Given the description of an element on the screen output the (x, y) to click on. 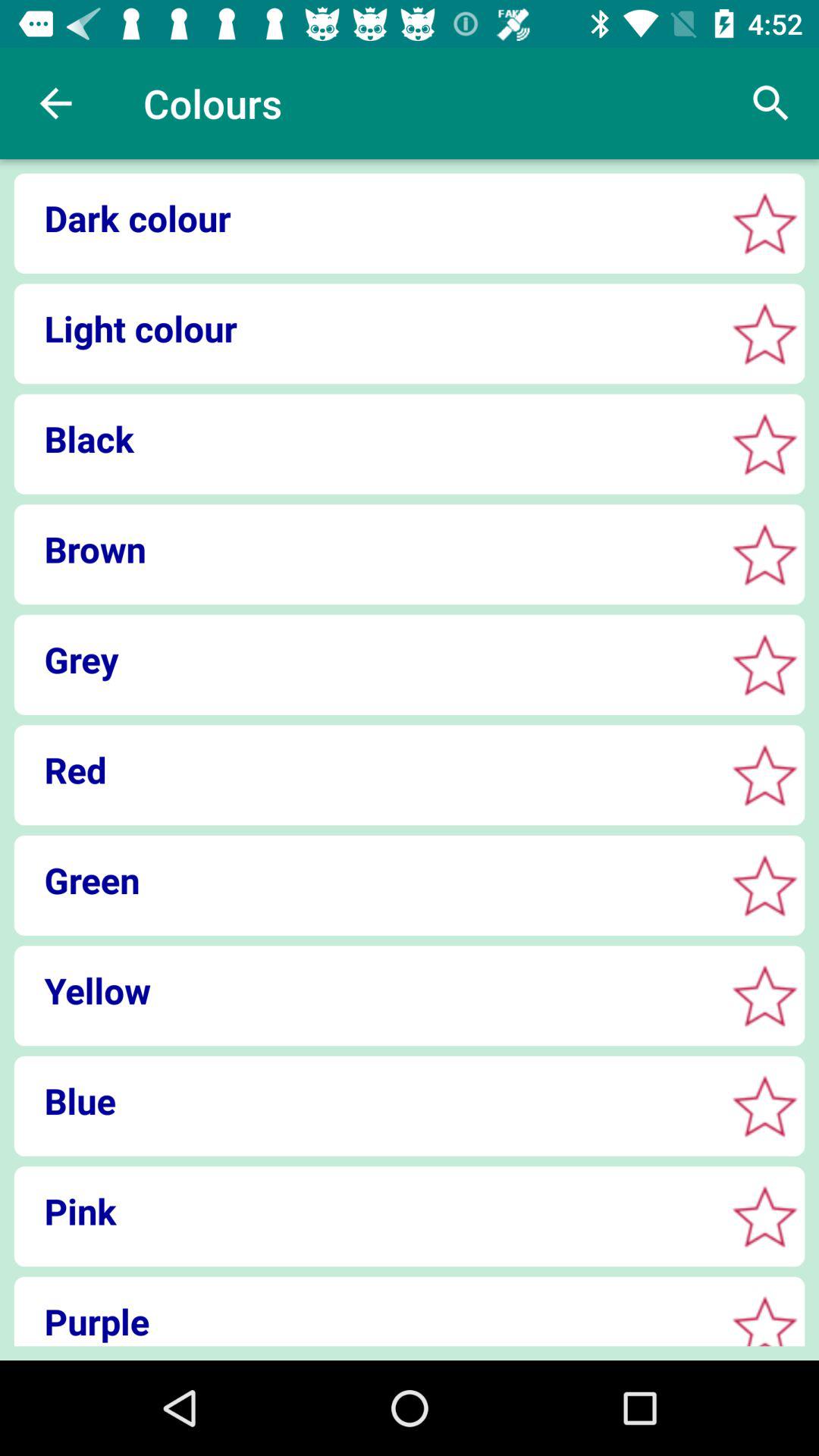
highlight a color (764, 333)
